Given the description of an element on the screen output the (x, y) to click on. 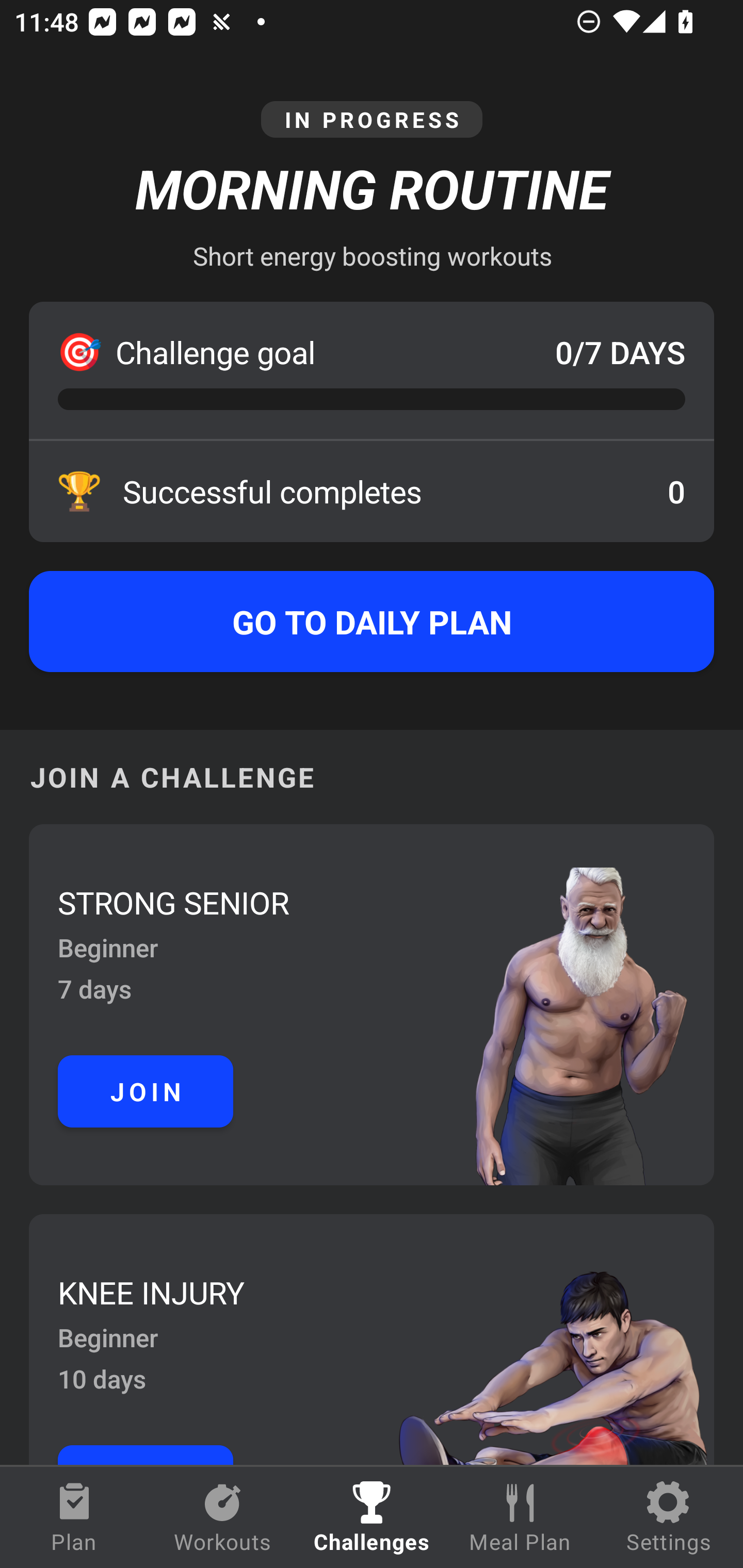
GO TO DAILY PLAN (371, 621)
JOIN (145, 1091)
 Plan  (74, 1517)
 Workouts  (222, 1517)
 Meal Plan  (519, 1517)
 Settings  (668, 1517)
